Given the description of an element on the screen output the (x, y) to click on. 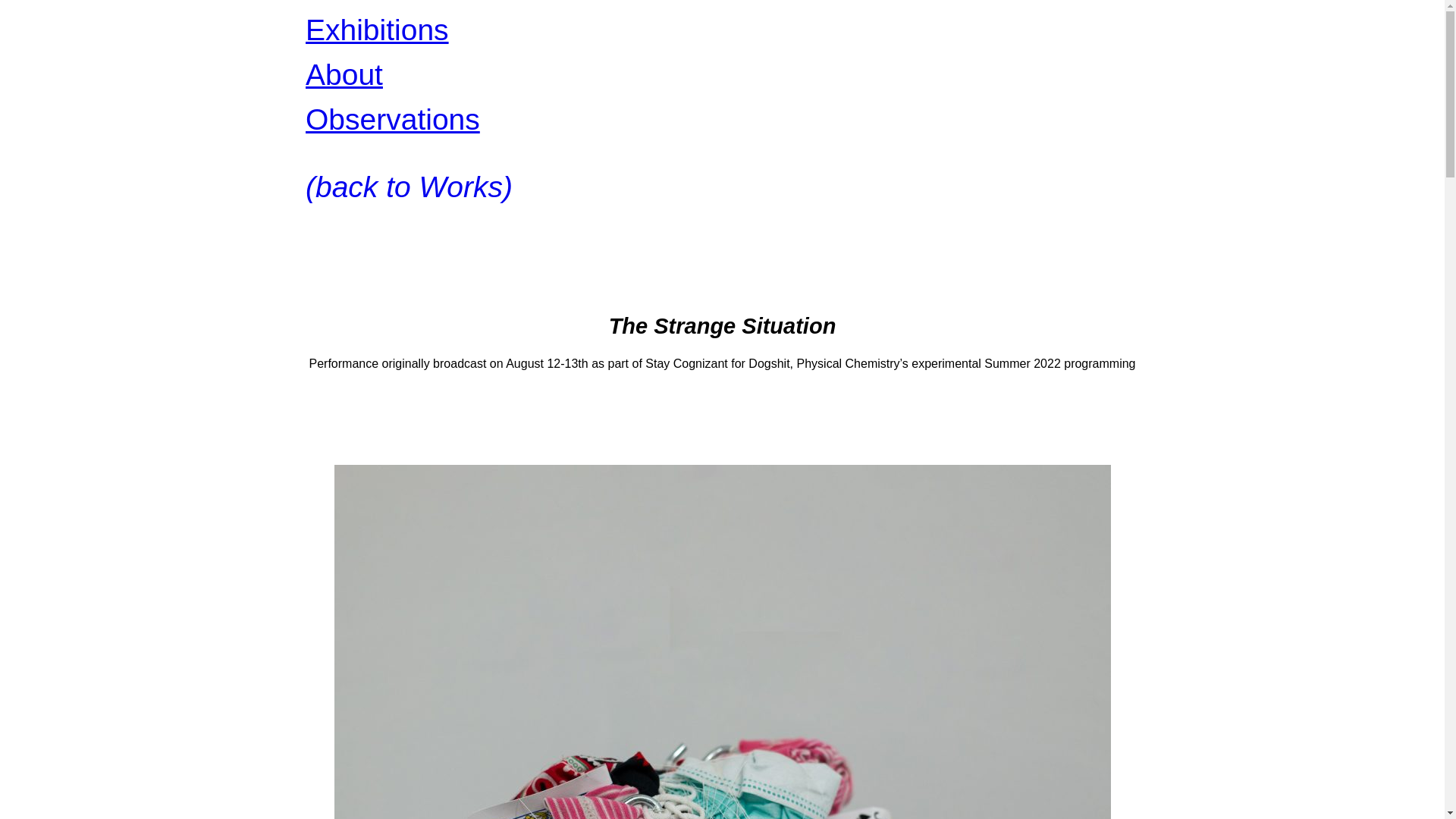
Exhibitions (376, 29)
Observations (391, 119)
About (342, 74)
